Given the description of an element on the screen output the (x, y) to click on. 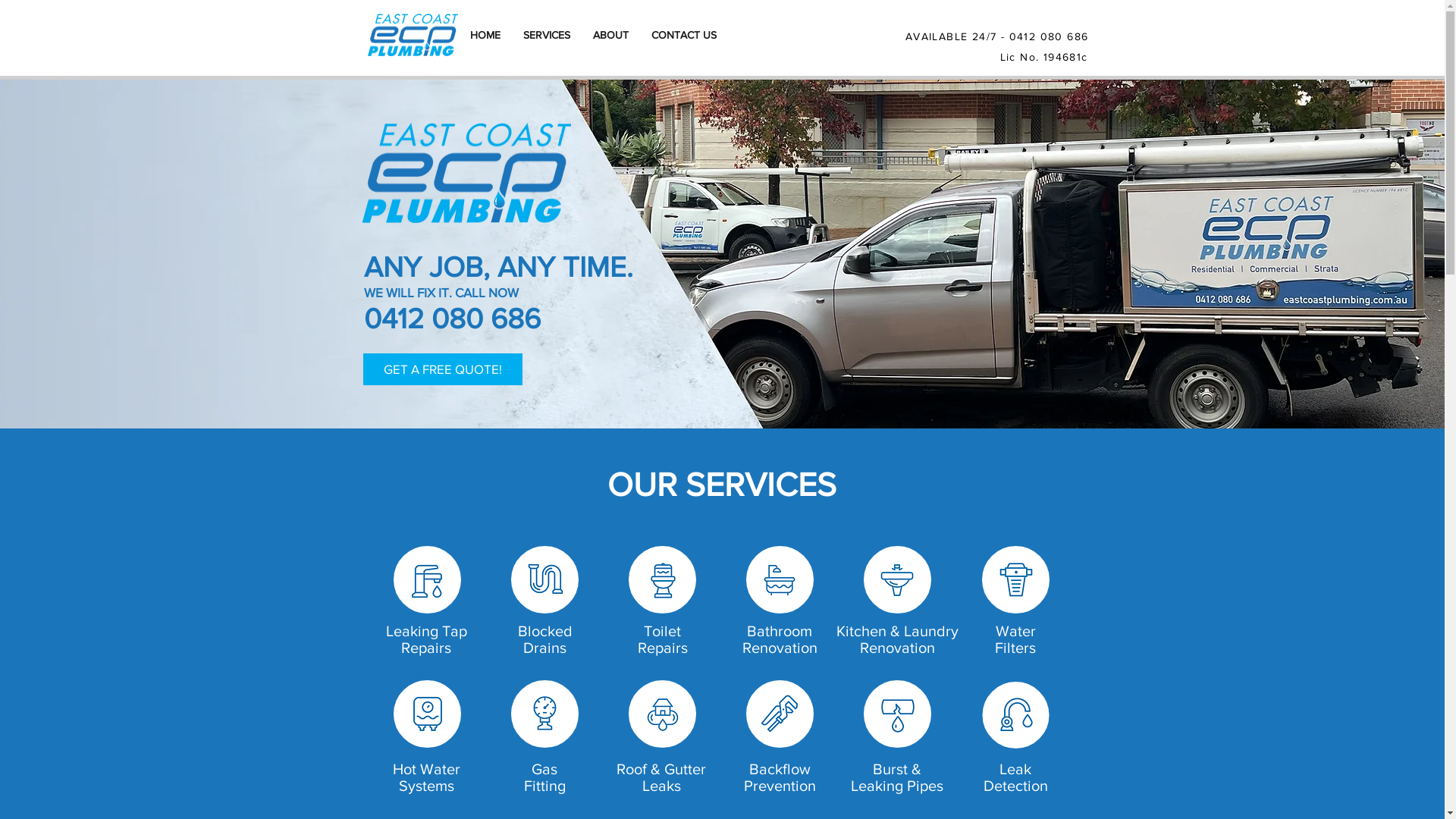
0412 080 686 Element type: text (1048, 36)
CONTACT US Element type: text (684, 35)
SERVICES Element type: text (545, 35)
GET A FREE QUOTE! Element type: text (441, 369)
0412 080 686 Element type: text (452, 317)
ABOUT Element type: text (609, 35)
HOME Element type: text (484, 35)
